Given the description of an element on the screen output the (x, y) to click on. 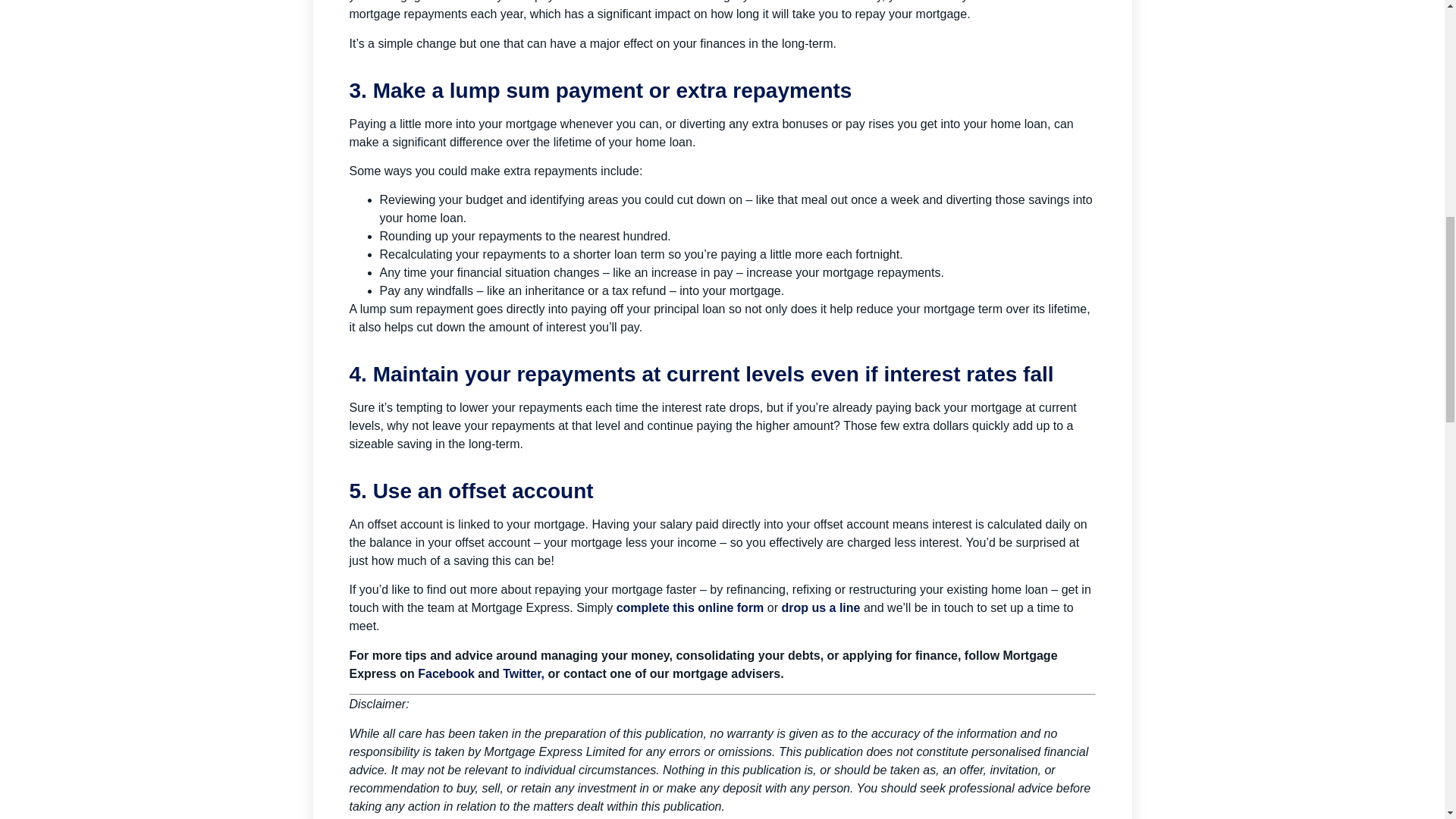
drop us a line (820, 607)
Facebook  (447, 673)
complete this online form (689, 607)
